Given the description of an element on the screen output the (x, y) to click on. 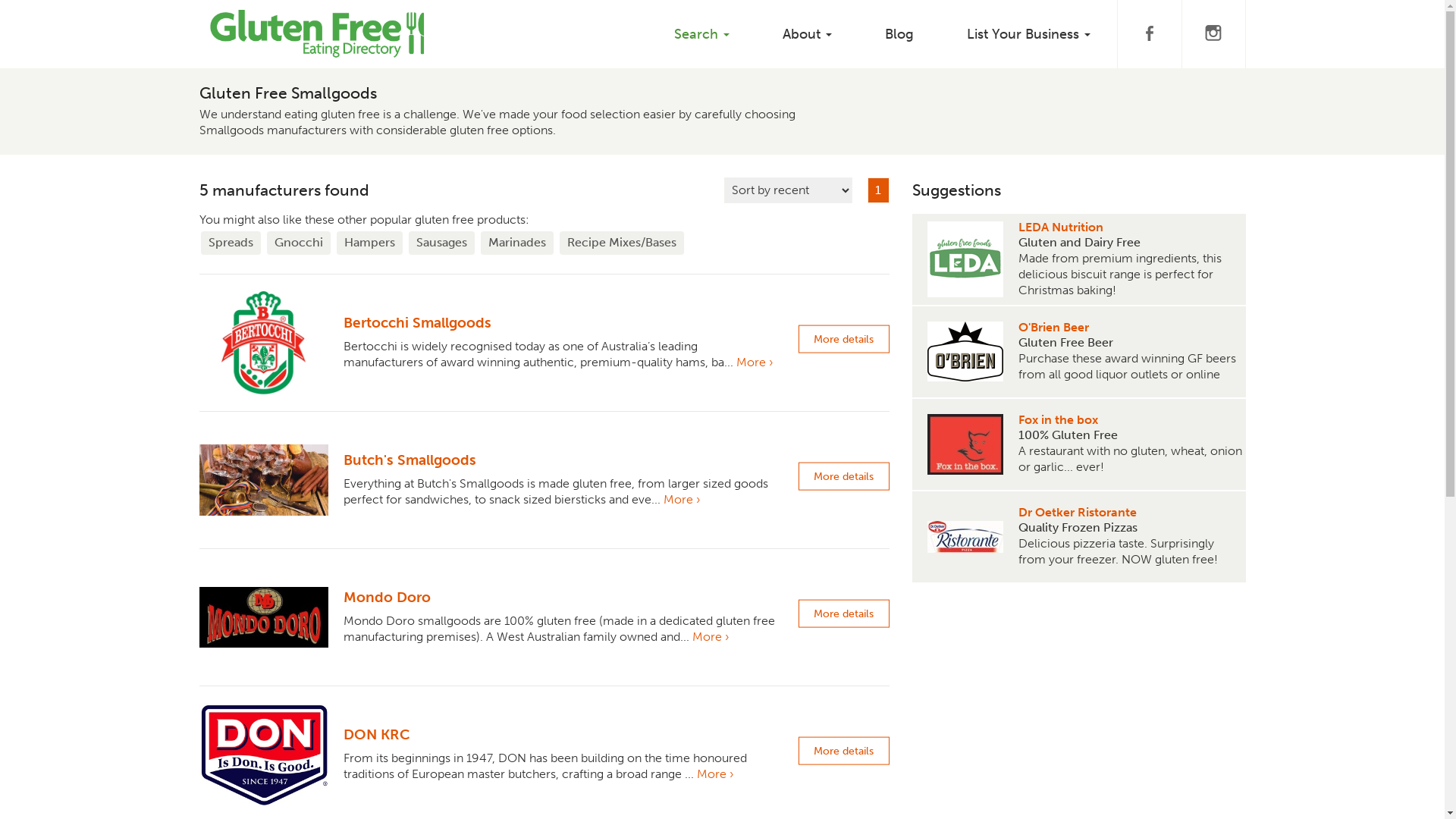
Bertocchi Smallgoods Element type: text (416, 322)
Gluten Free Eating Directory Facebook page Element type: hover (1148, 34)
Recipe Mixes/Bases Element type: text (621, 242)
Fox in the box Element type: text (1129, 420)
Spreads Element type: text (230, 242)
Search Element type: text (701, 34)
1 Element type: text (877, 190)
DON KRC Element type: text (375, 734)
O'Brien Beer Element type: text (1129, 327)
Hampers Element type: text (369, 242)
Gluten free Eating Directory homepage Element type: hover (317, 18)
Butch's Smallgoods Element type: text (408, 459)
Blog Element type: text (899, 34)
More details Element type: text (842, 476)
List Your Business Element type: text (1028, 34)
More details Element type: text (842, 751)
Dr Oetker Ristorante Element type: text (1129, 512)
LEDA Nutrition Element type: text (1129, 227)
About Element type: text (806, 34)
Gluten Free Eating Directory on Instagram Element type: hover (1213, 34)
Sausages Element type: text (440, 242)
Gnocchi Element type: text (298, 242)
Mondo Doro Element type: text (385, 596)
More details Element type: text (842, 339)
Marinades Element type: text (516, 242)
More details Element type: text (842, 613)
